Given the description of an element on the screen output the (x, y) to click on. 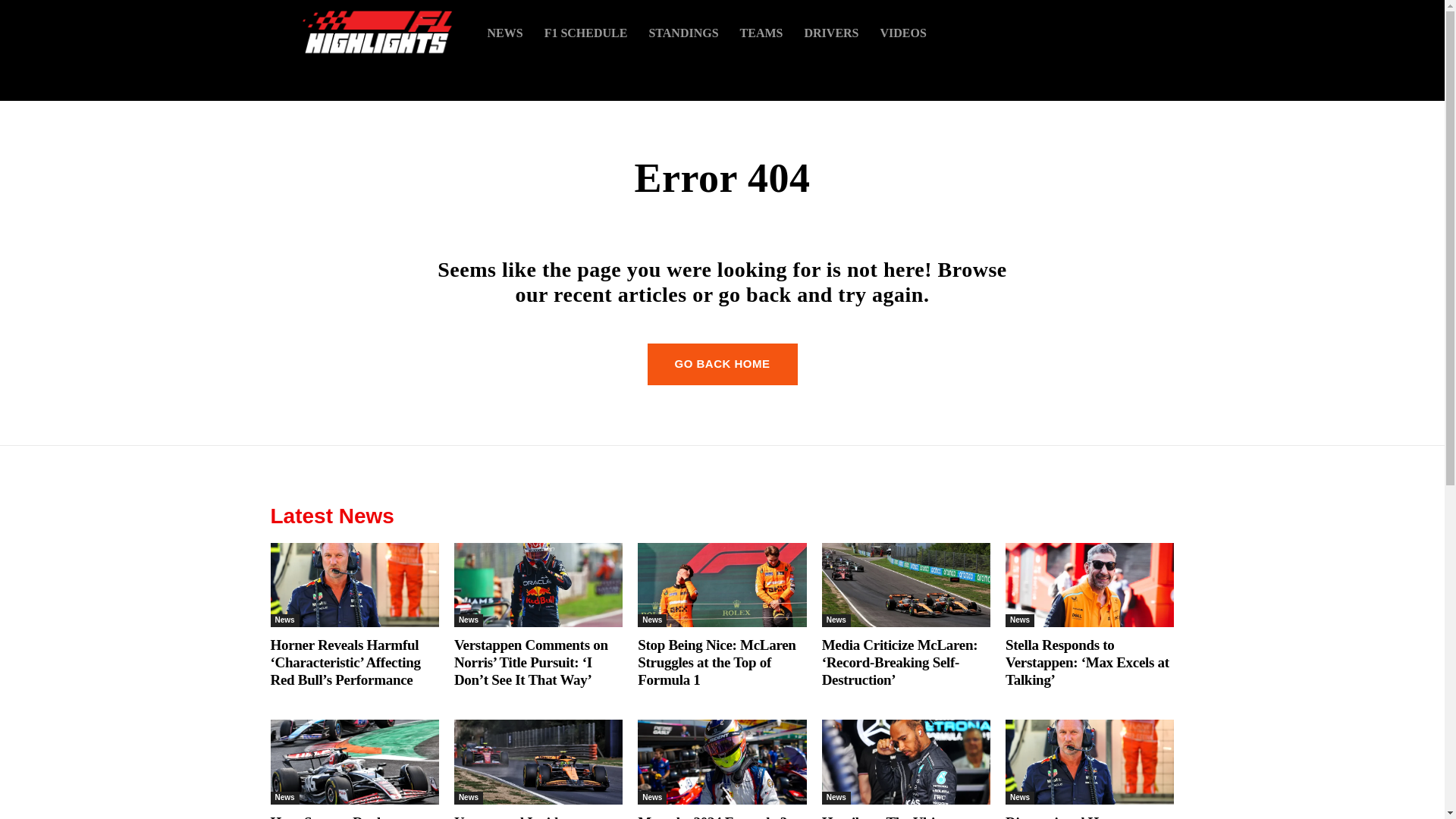
F1 Teams (761, 32)
News (283, 797)
News (1019, 620)
News (283, 620)
DRIVERS (831, 32)
GO BACK HOME (722, 363)
Stop Being Nice: McLaren Struggles at the Top of Formula 1 (715, 662)
F1 Standings 2023 (683, 32)
STANDINGS (683, 32)
TEAMS (761, 32)
